Given the description of an element on the screen output the (x, y) to click on. 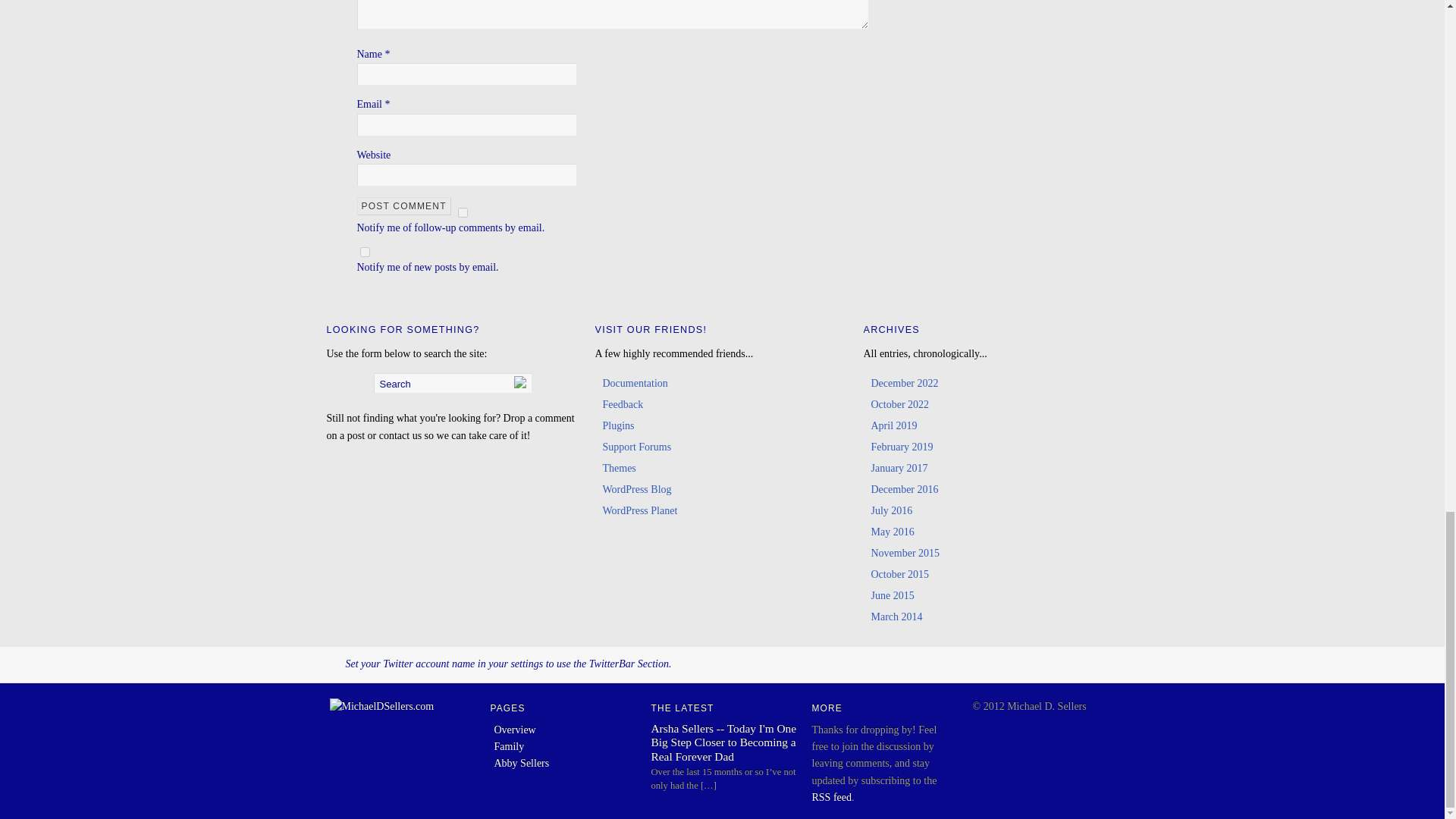
Home (381, 706)
subscribe (364, 252)
Post Comment (402, 206)
subscribe (462, 212)
Feedback (622, 404)
Search (451, 383)
Search (451, 383)
Post Comment (402, 206)
Documentation (634, 383)
